Given the description of an element on the screen output the (x, y) to click on. 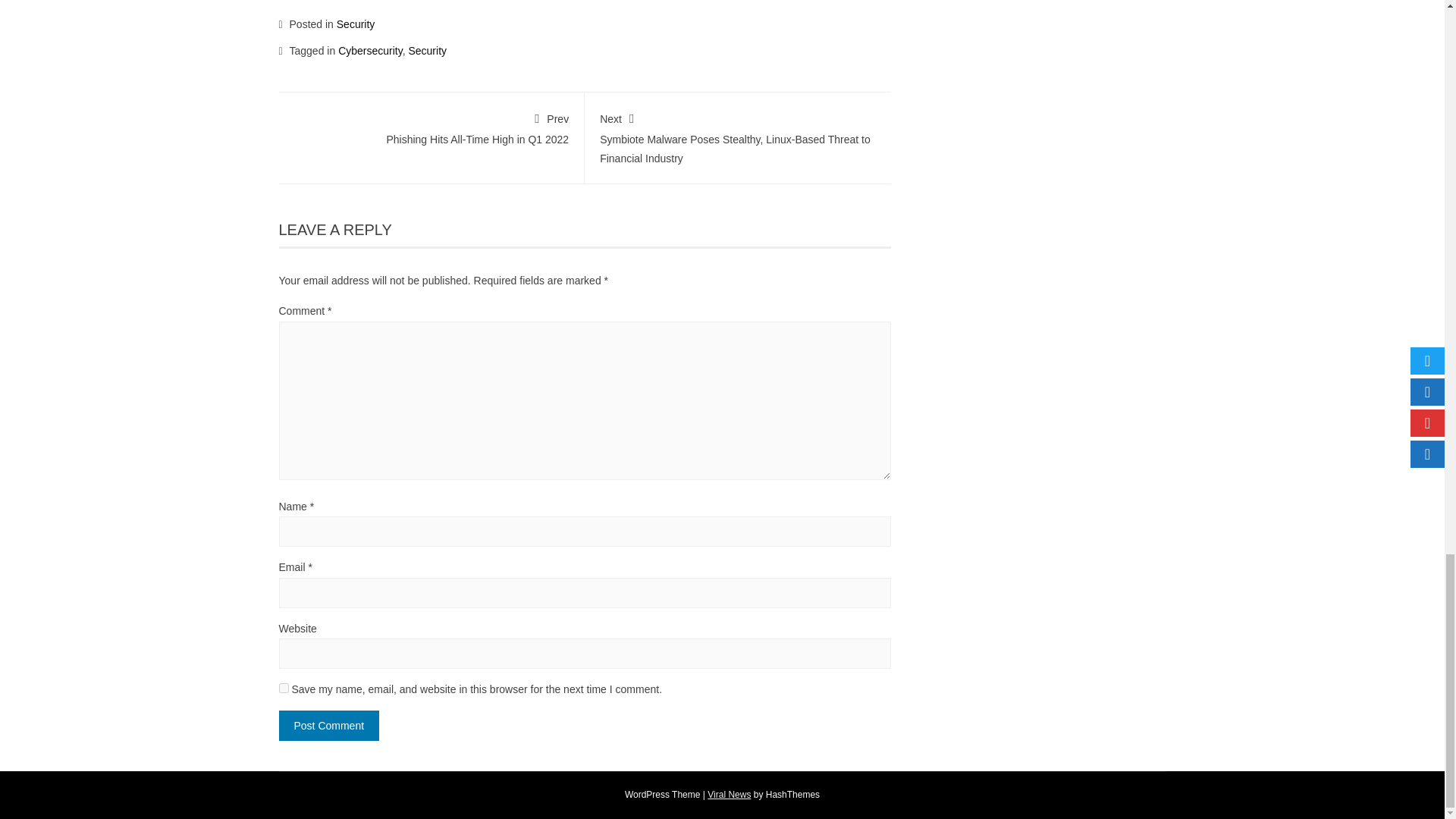
Download Viral News (729, 794)
yes (283, 687)
Post Comment (329, 725)
